Given the description of an element on the screen output the (x, y) to click on. 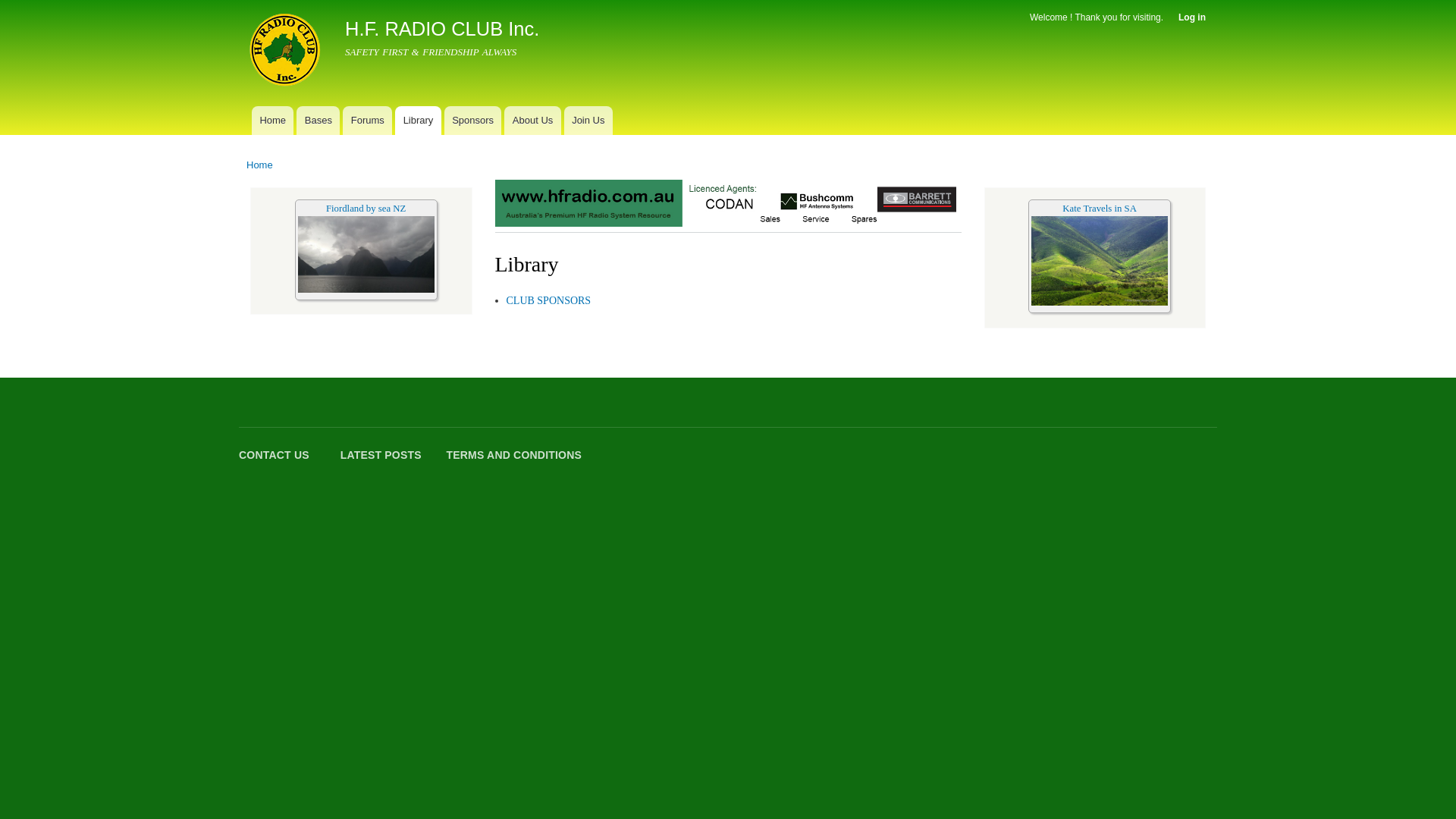
Forums Element type: text (367, 120)
Home Element type: hover (285, 51)
Home Element type: text (272, 120)
Home Element type: text (259, 164)
Log in Element type: text (1191, 17)
Kate Travels in SA Element type: text (1099, 208)
Cracking good early mornings  Element type: hover (1099, 302)
Bases Element type: text (317, 120)
Library Element type: text (418, 120)
CONTACT US  Element type: text (275, 454)
Milford Sound 12 Element type: hover (366, 254)
Skip to main content Element type: text (695, 1)
Join Us Element type: text (588, 120)
About Us Element type: text (532, 120)
Fiordland by sea NZ Element type: text (365, 208)
CLUB SPONSORS Element type: text (548, 300)
Sponsors Element type: text (473, 120)
LATEST POSTS Element type: text (380, 454)
H.F. RADIO CLUB Inc. Element type: text (442, 28)
TERMS AND CONDITIONS Element type: text (513, 454)
Dawn Flinders Ranges Element type: hover (1099, 260)
